Given the description of an element on the screen output the (x, y) to click on. 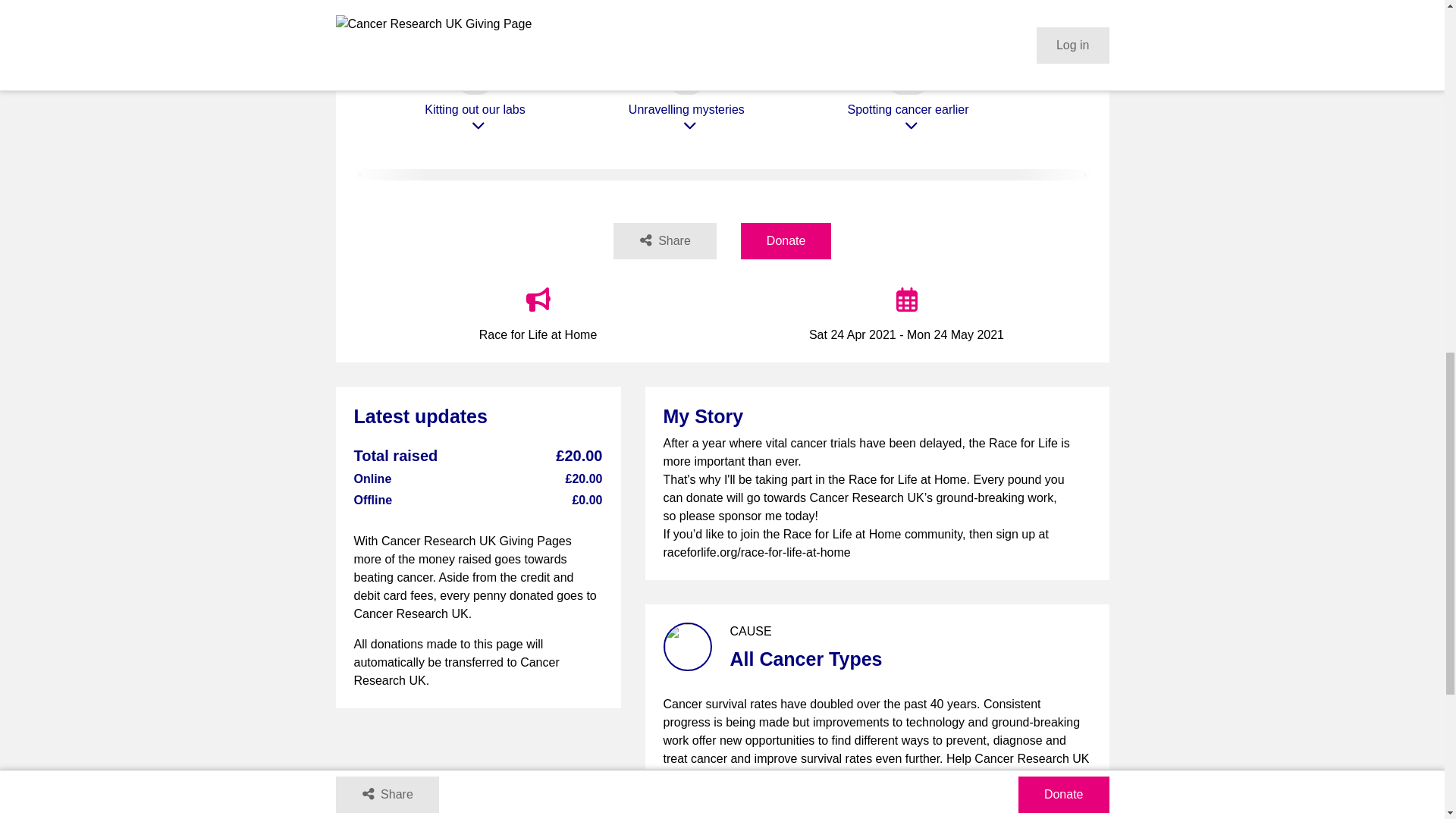
Share (664, 240)
Donate (786, 240)
